Given the description of an element on the screen output the (x, y) to click on. 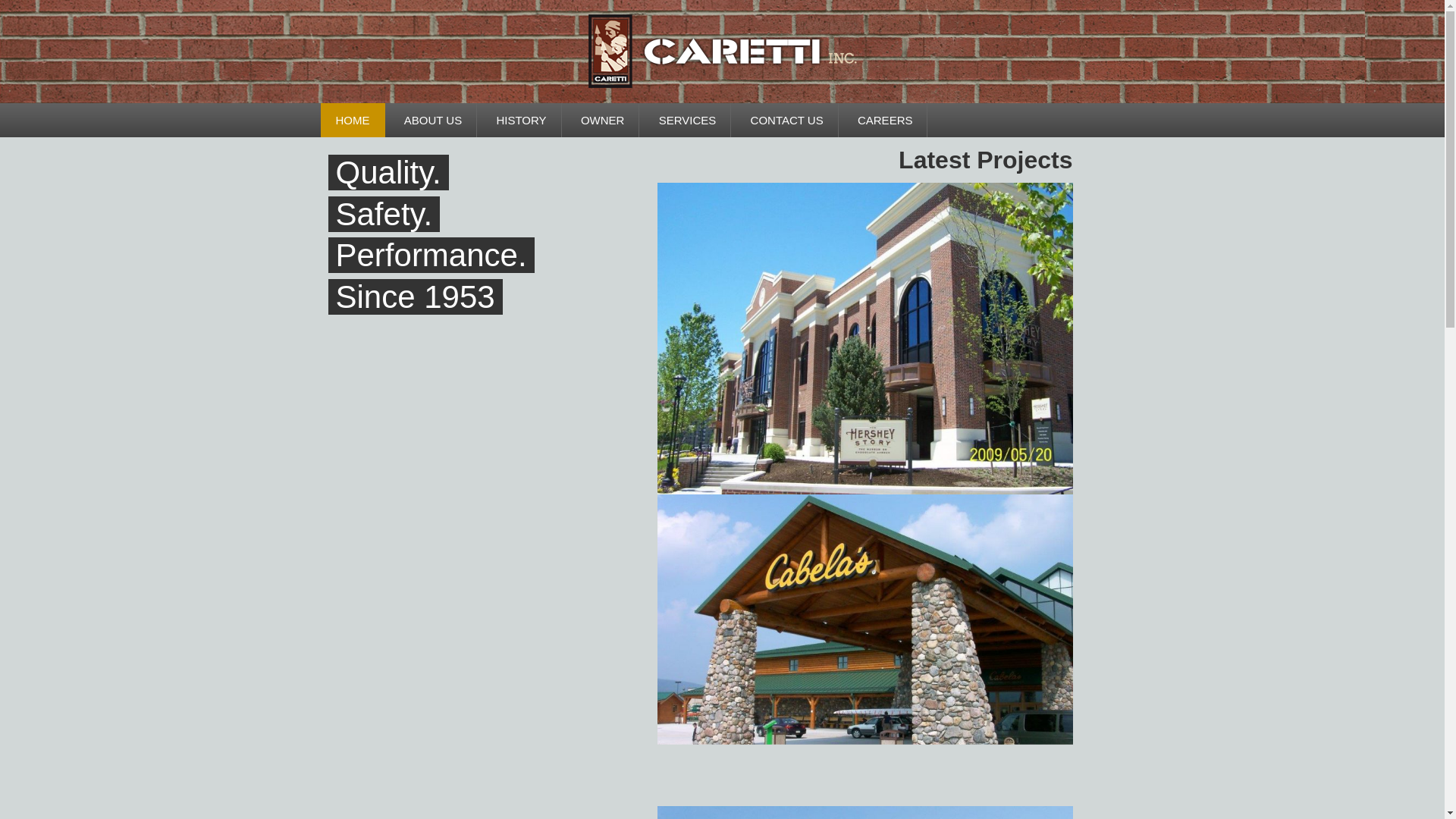
ABOUT US (432, 120)
CONTACT US (786, 120)
OWNER (603, 120)
SERVICES (687, 120)
CAREERS (885, 120)
HOME (352, 120)
HISTORY (520, 120)
TRADING AREAS (464, 154)
